Given the description of an element on the screen output the (x, y) to click on. 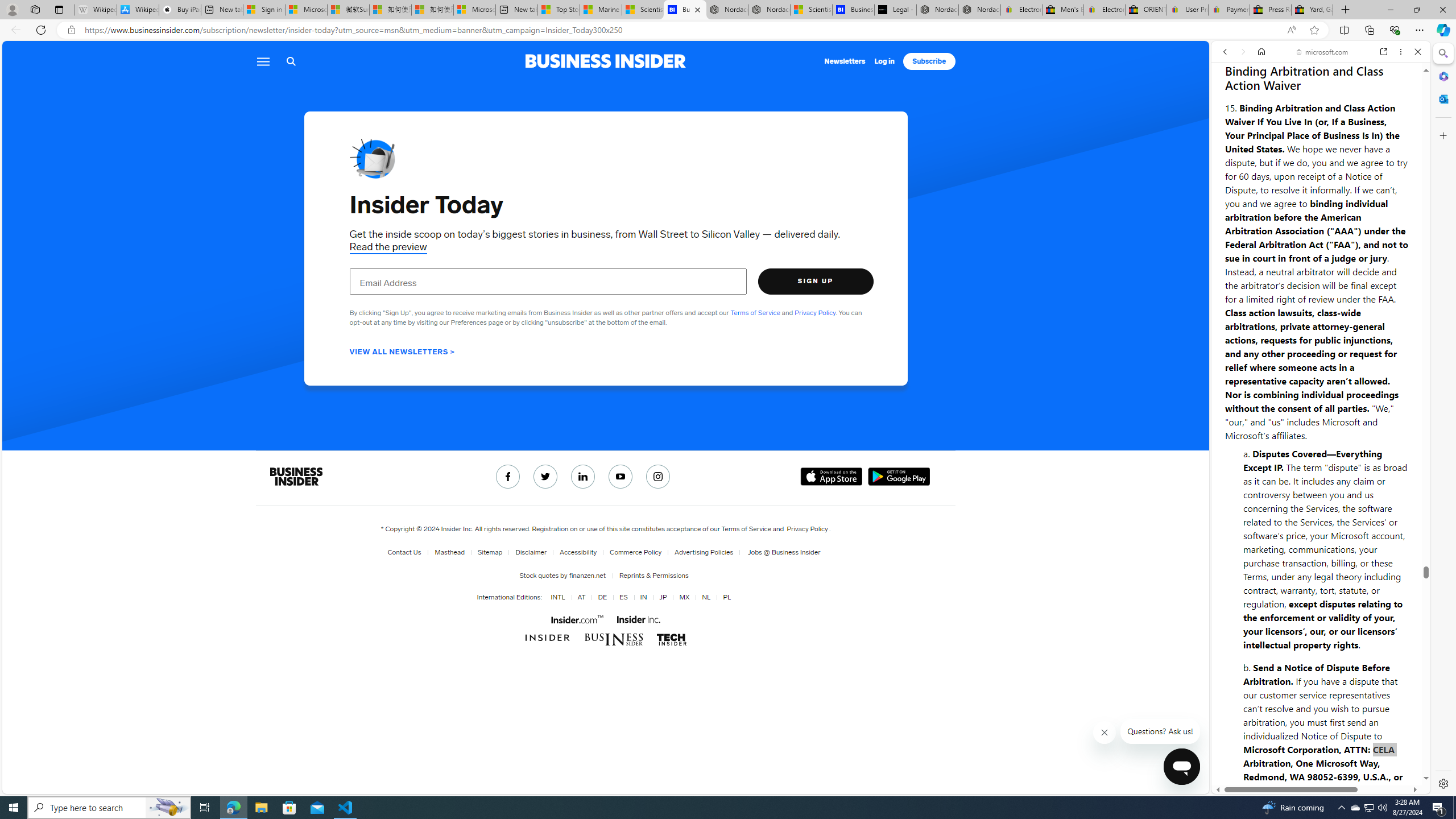
Disclaimer (528, 552)
Jobs @ Business Insider (780, 552)
Jobs at Business Insider (783, 552)
Business Insider (295, 476)
Open messaging window (1181, 766)
ES (622, 597)
Menu (262, 61)
Business Insider logo (605, 60)
